Given the description of an element on the screen output the (x, y) to click on. 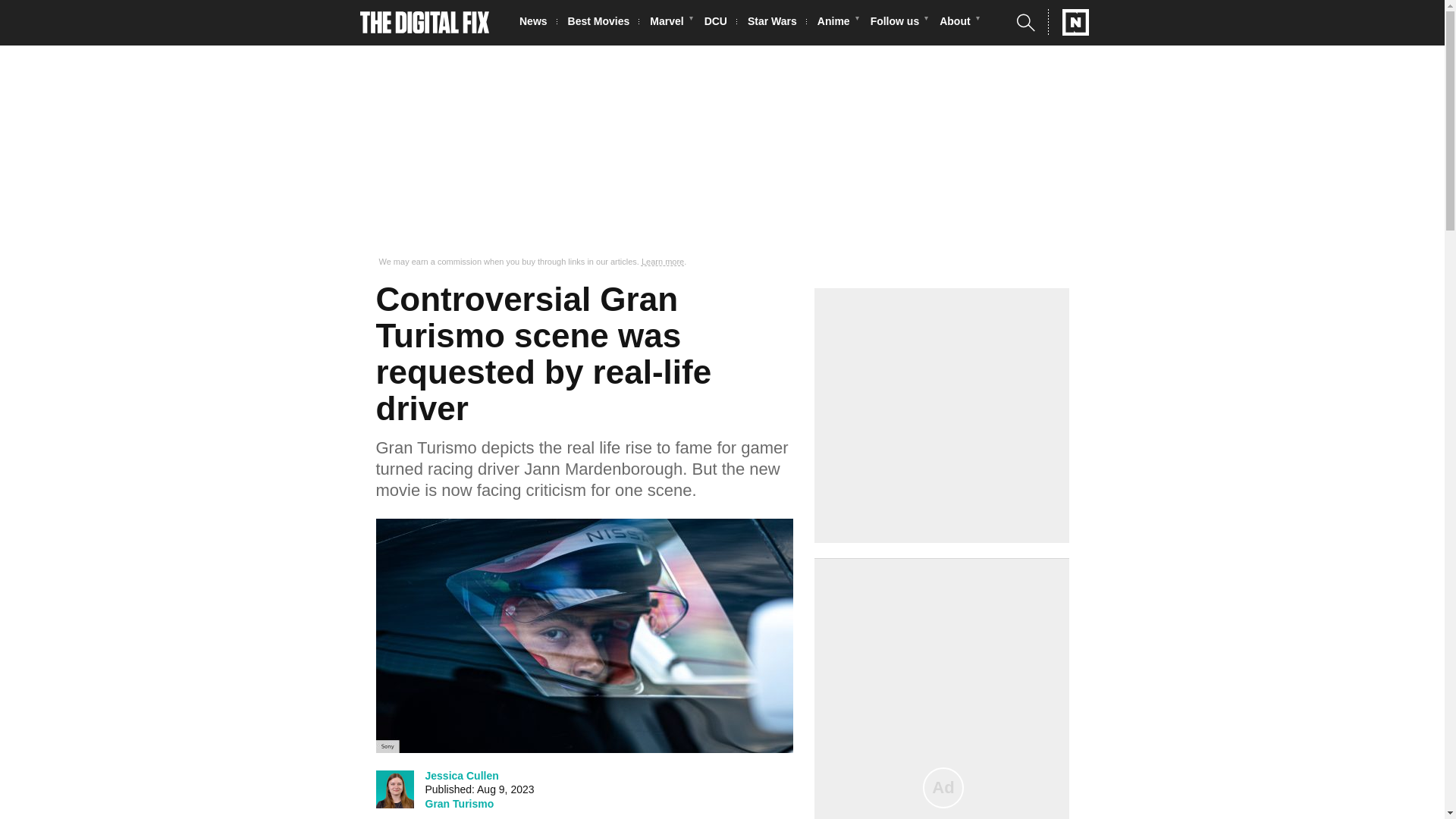
Anime (837, 22)
Marvel (671, 22)
Marvel Cinematic Universe News (671, 22)
Gran Turismo (459, 803)
Jessica Cullen (461, 775)
Follow us (899, 22)
Star Wars (777, 22)
Learn more (663, 261)
Star Wars News (777, 22)
Network N Media (1068, 22)
